Given the description of an element on the screen output the (x, y) to click on. 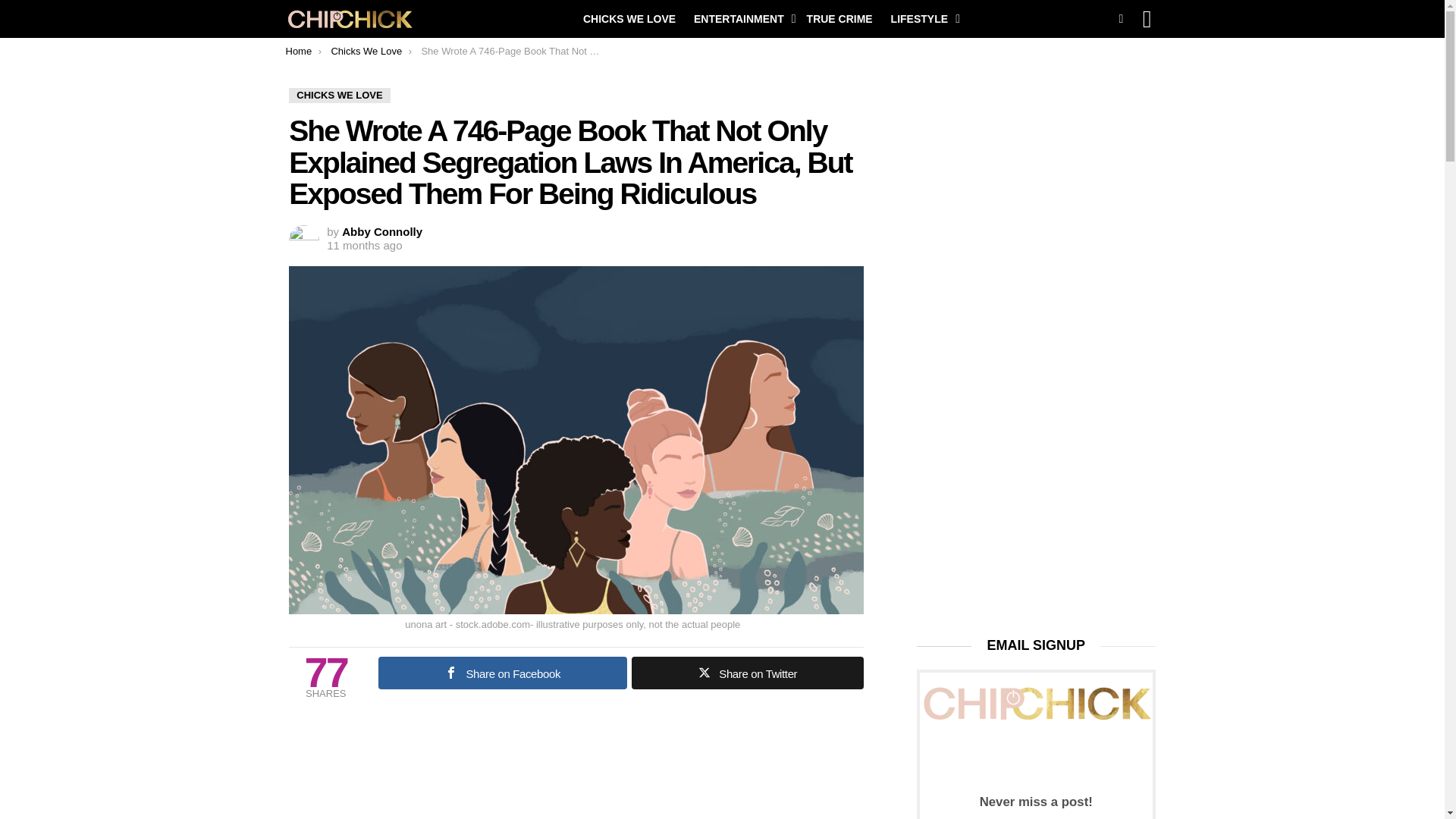
Home (298, 50)
September 4, 2023, 9:00 pm (363, 245)
ENTERTAINMENT (740, 18)
Share on Twitter (747, 672)
LIFESTYLE (921, 18)
Chicks We Love (365, 50)
Share on Facebook (502, 672)
Abby Connolly (382, 231)
Posts by Abby Connolly (382, 231)
LOGIN (1146, 18)
SEARCH (1120, 18)
TRUE CRIME (839, 18)
CHICKS WE LOVE (628, 18)
CHICKS WE LOVE (339, 95)
